Given the description of an element on the screen output the (x, y) to click on. 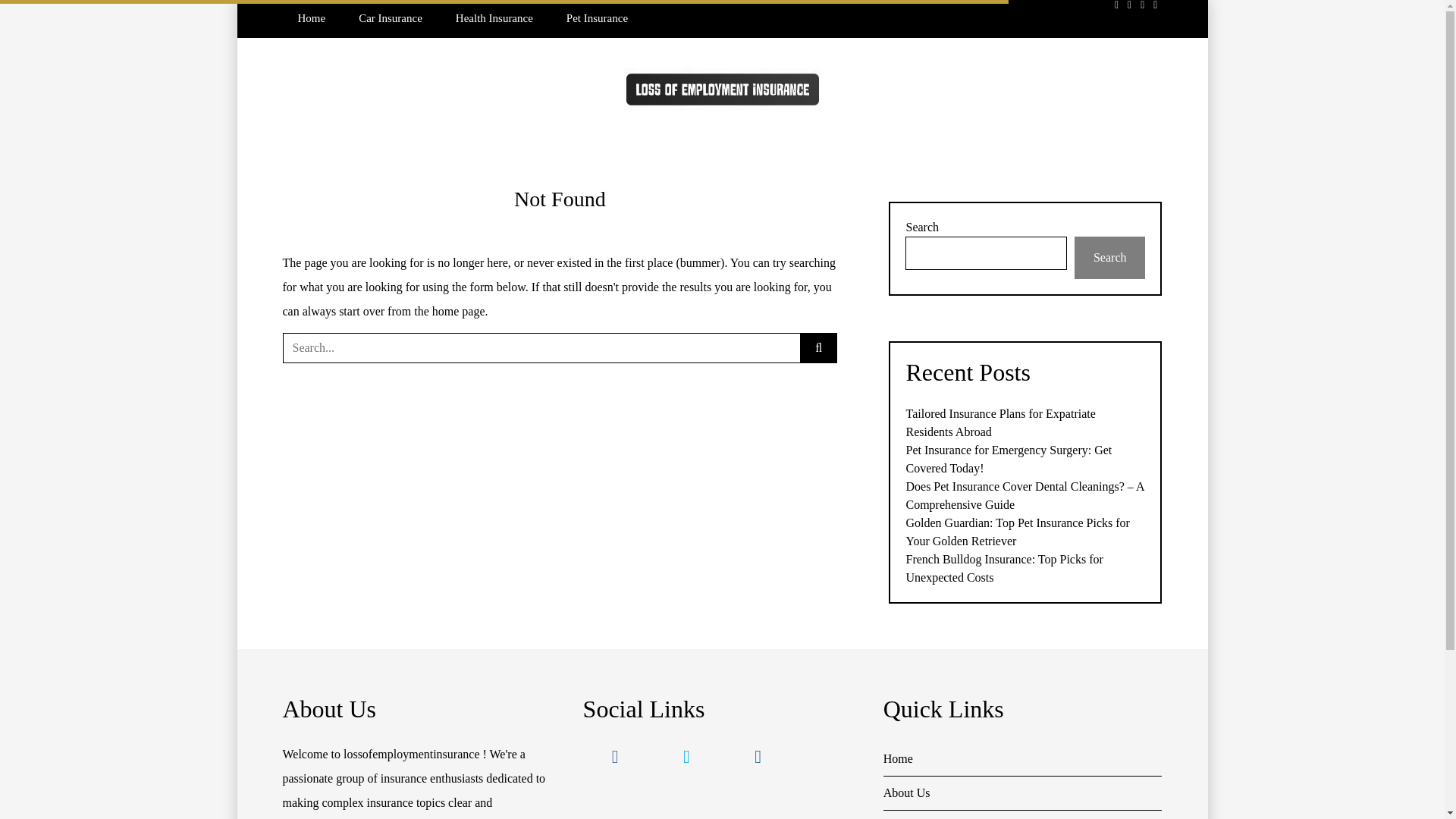
Car Insurance (390, 18)
Home (311, 18)
Tailored Insurance Plans for Expatriate Residents Abroad (999, 422)
Health Insurance (494, 18)
About Us (1022, 793)
Privacy Policy (1022, 814)
Search (1109, 257)
Home (1022, 759)
Pet Insurance for Emergency Surgery: Get Covered Today! (1008, 459)
Search (35, 16)
French Bulldog Insurance: Top Picks for Unexpected Costs (1003, 567)
Pet Insurance (597, 18)
